Given the description of an element on the screen output the (x, y) to click on. 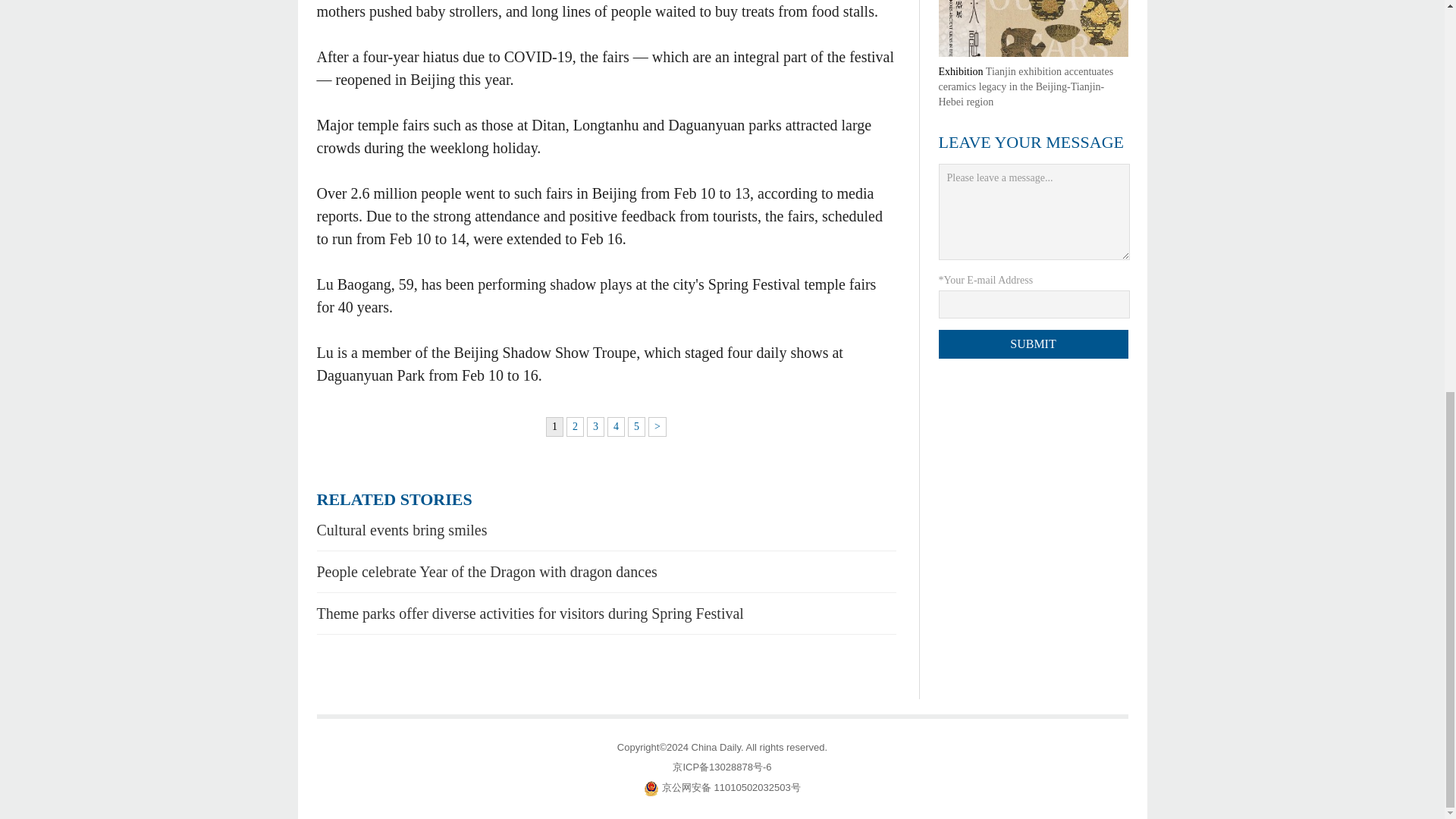
Cultural events bring smiles (402, 529)
LEAVE YOUR MESSAGE (1031, 141)
Submit (1033, 344)
People celebrate Year of the Dragon with dragon dances (487, 571)
Submit (1033, 344)
